Given the description of an element on the screen output the (x, y) to click on. 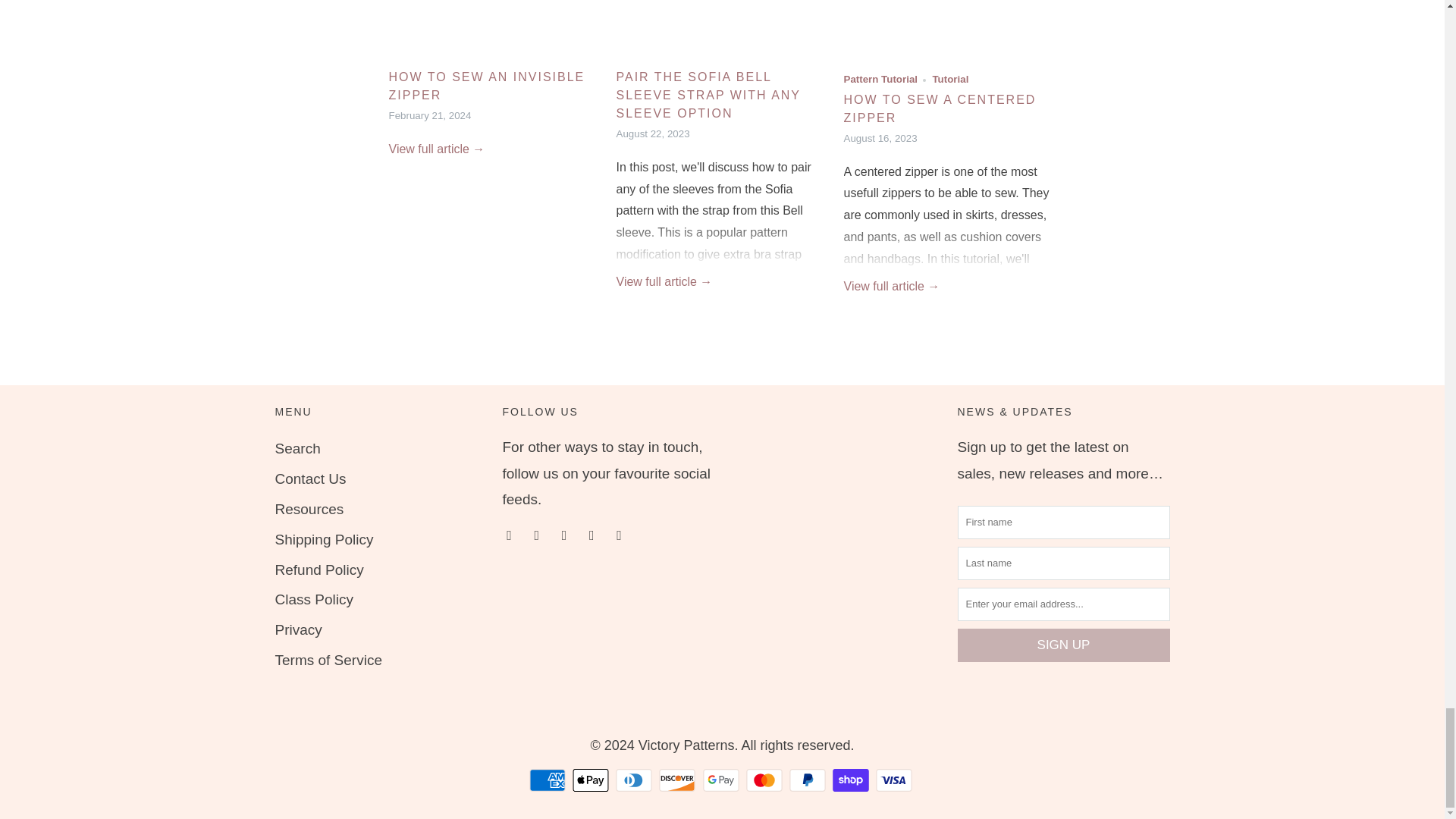
Diners Club (635, 780)
The Victory Patterns Blog tagged Pattern Tutorial (880, 79)
Pair the Sofia Bell Sleeve Strap with any sleeve option (721, 30)
Apple Pay (591, 780)
How to sew an invisible zipper (493, 30)
Google Pay (721, 780)
Visa (895, 780)
Pair the Sofia Bell Sleeve Strap with any sleeve option (707, 94)
How to sew an invisible zipper (436, 148)
How to sew a centered zipper (949, 30)
